Given the description of an element on the screen output the (x, y) to click on. 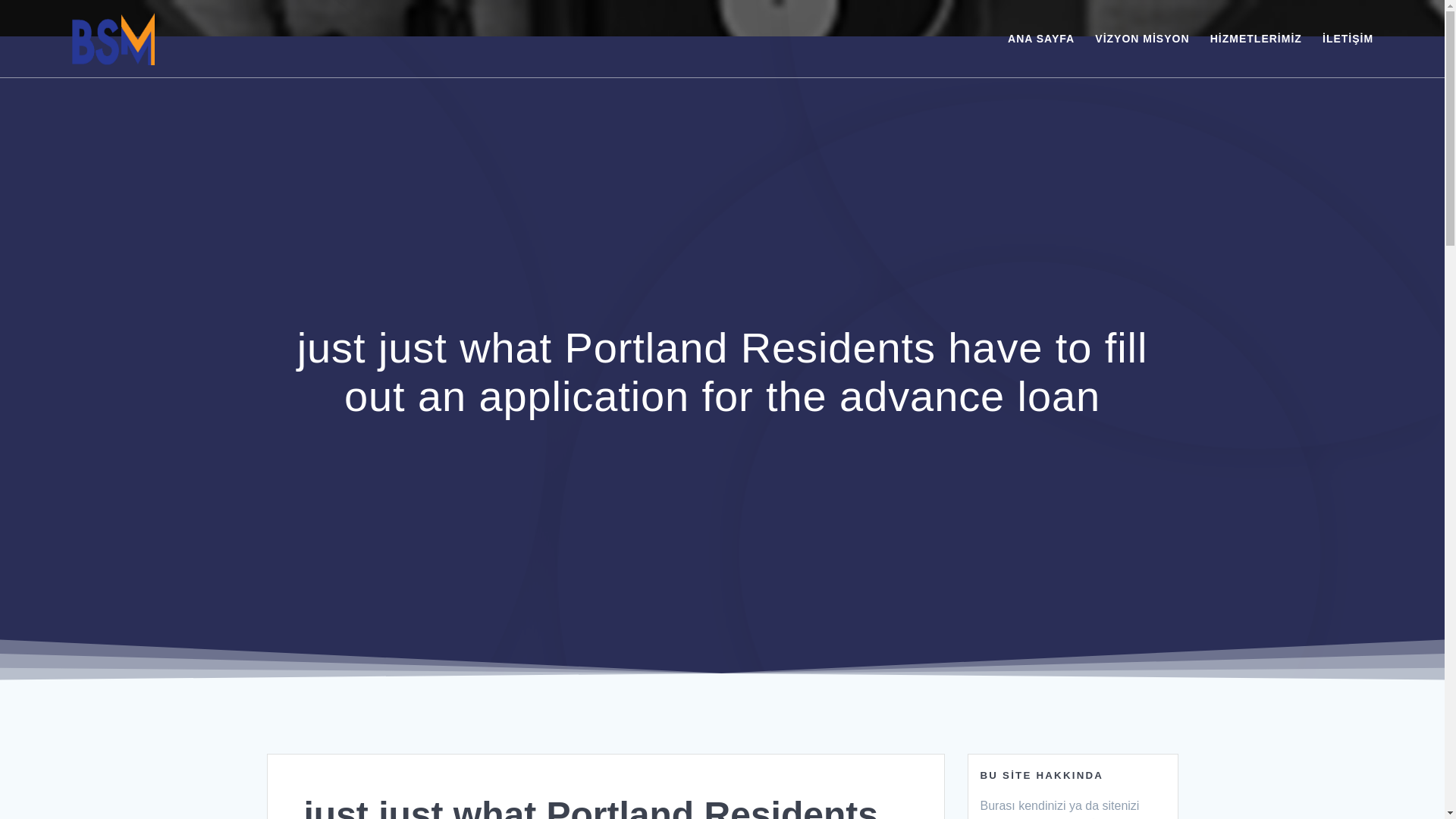
HIZMETLERIMIZ (1255, 38)
VIZYON MISYON (1141, 38)
ANA SAYFA (1040, 38)
